Given the description of an element on the screen output the (x, y) to click on. 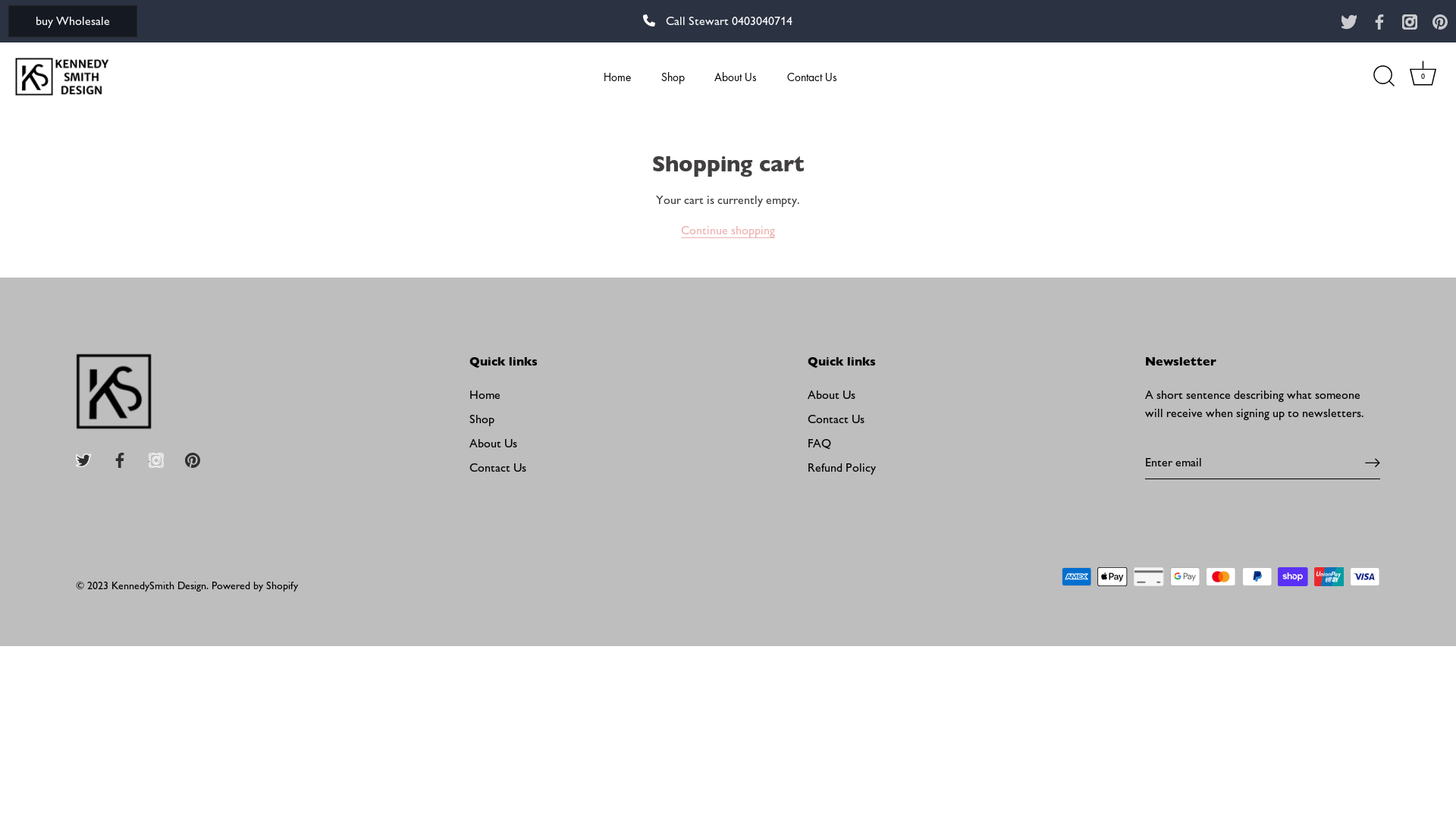
Shop Element type: text (481, 418)
Cart
0 Element type: text (1422, 76)
Home Element type: text (484, 394)
KennedySmith Design Element type: text (158, 585)
buy Wholesale Element type: text (72, 21)
Powered by Shopify Element type: text (254, 585)
About Us Element type: text (493, 443)
Refund Policy Element type: text (841, 467)
Contact Us Element type: text (835, 418)
Contact Us Element type: text (812, 76)
FAQ Element type: text (819, 443)
Continue shopping Element type: text (727, 230)
Shop Element type: text (672, 76)
Contact Us Element type: text (497, 467)
Home Element type: text (617, 76)
Call Stewart 0403040714 Element type: text (717, 21)
About Us Element type: text (831, 394)
About Us Element type: text (735, 76)
